Given the description of an element on the screen output the (x, y) to click on. 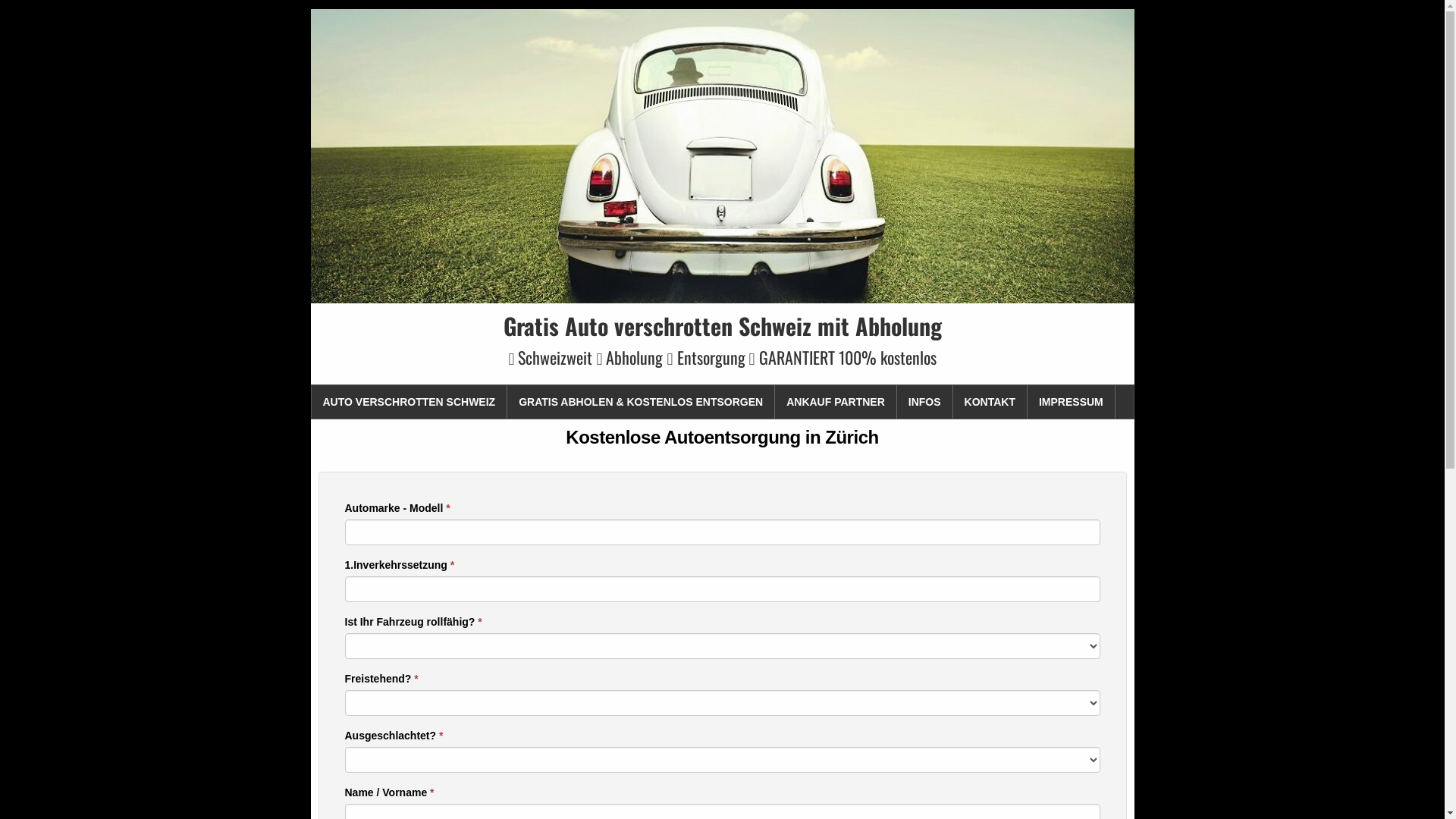
IMPRESSUM Element type: text (1071, 401)
Gratis Auto verschrotten Schweiz mit Abholung Element type: text (722, 325)
KONTAKT Element type: text (990, 401)
ANKAUF PARTNER Element type: text (836, 401)
GRATIS ABHOLEN & KOSTENLOS ENTSORGEN Element type: text (641, 401)
INFOS Element type: text (925, 401)
AUTO VERSCHROTTEN SCHWEIZ Element type: text (408, 401)
